Given the description of an element on the screen output the (x, y) to click on. 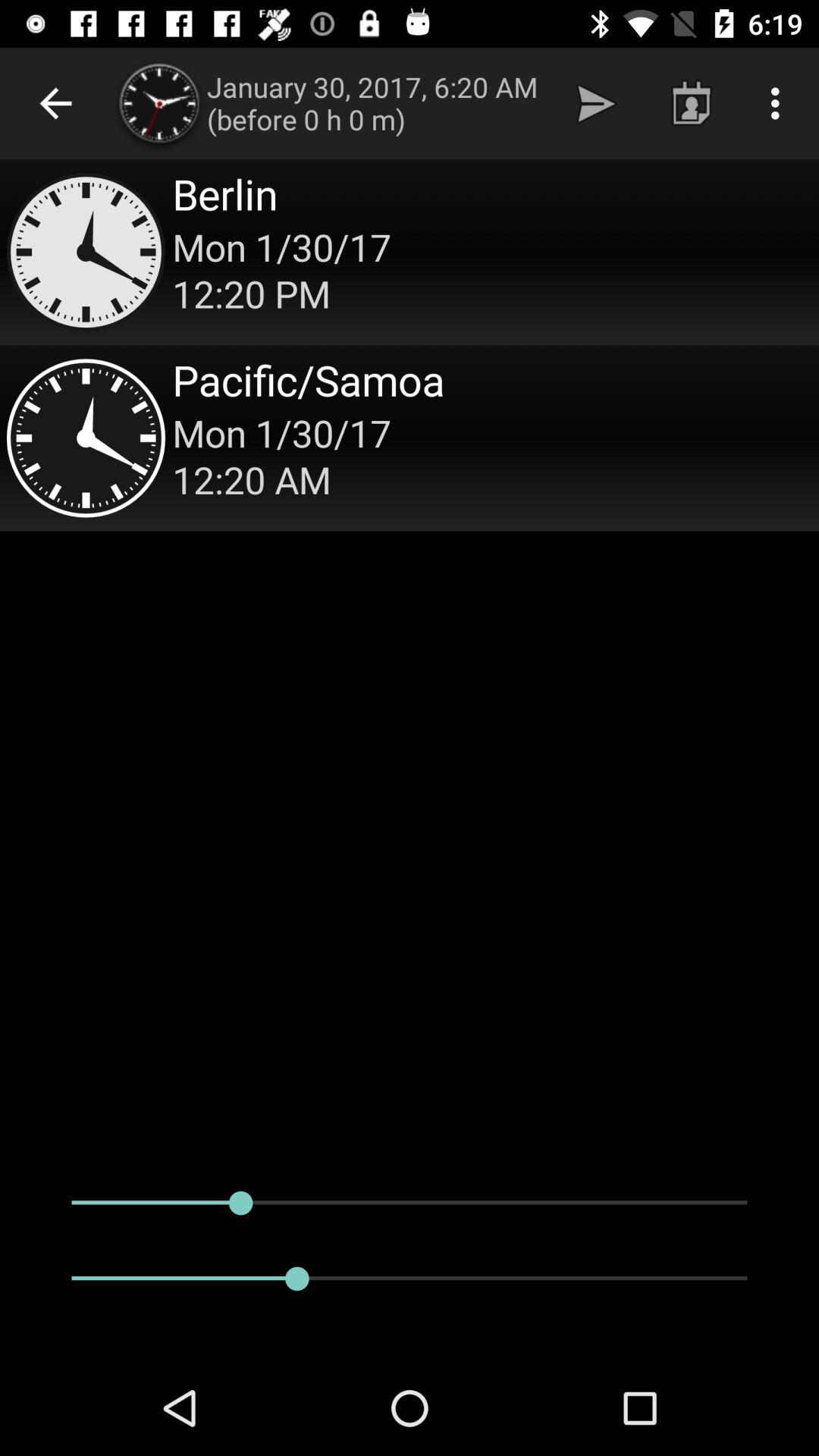
choose icon next to january 30 2017 item (595, 103)
